Given the description of an element on the screen output the (x, y) to click on. 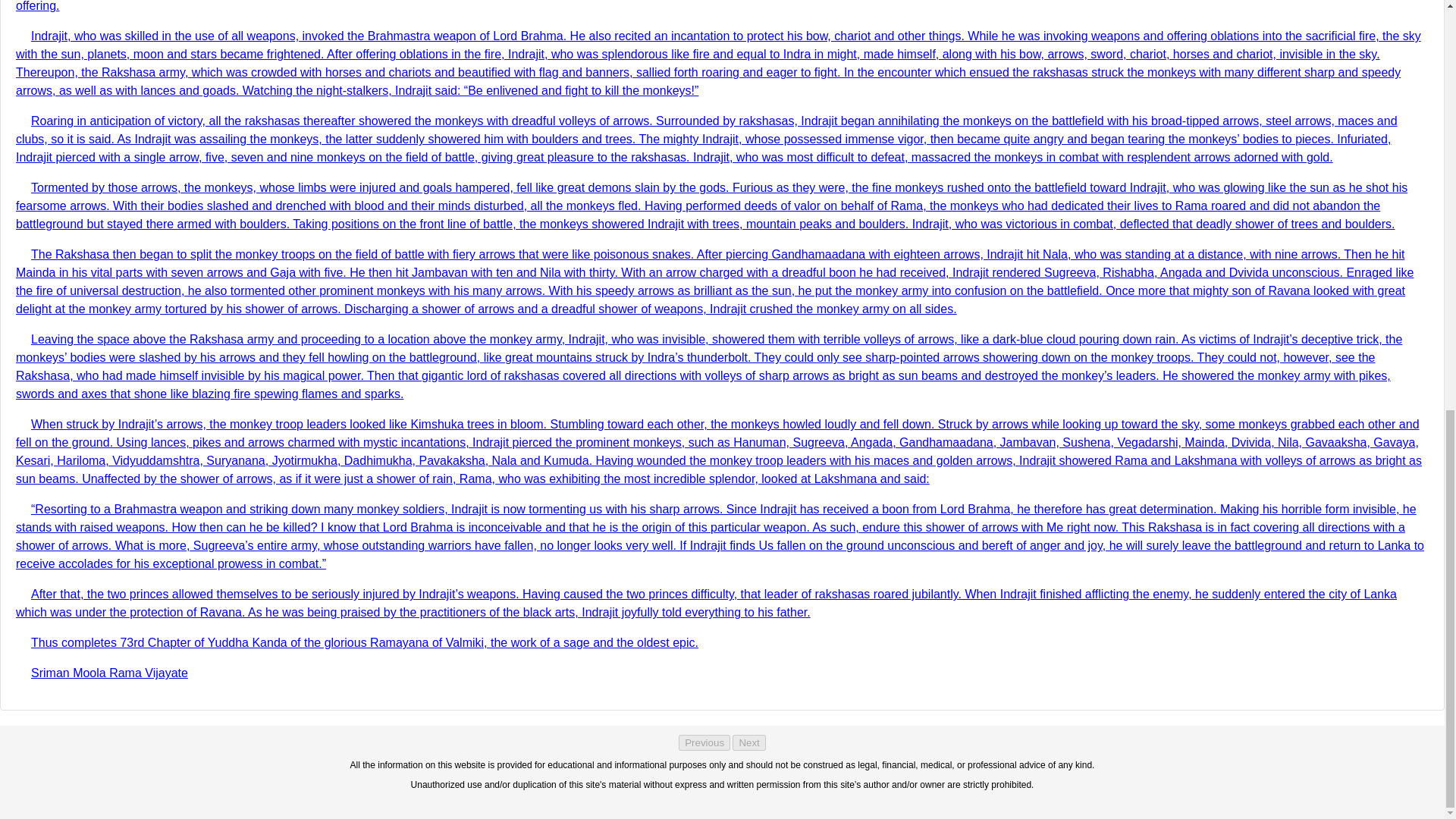
Previous (704, 742)
Next (748, 742)
